Given the description of an element on the screen output the (x, y) to click on. 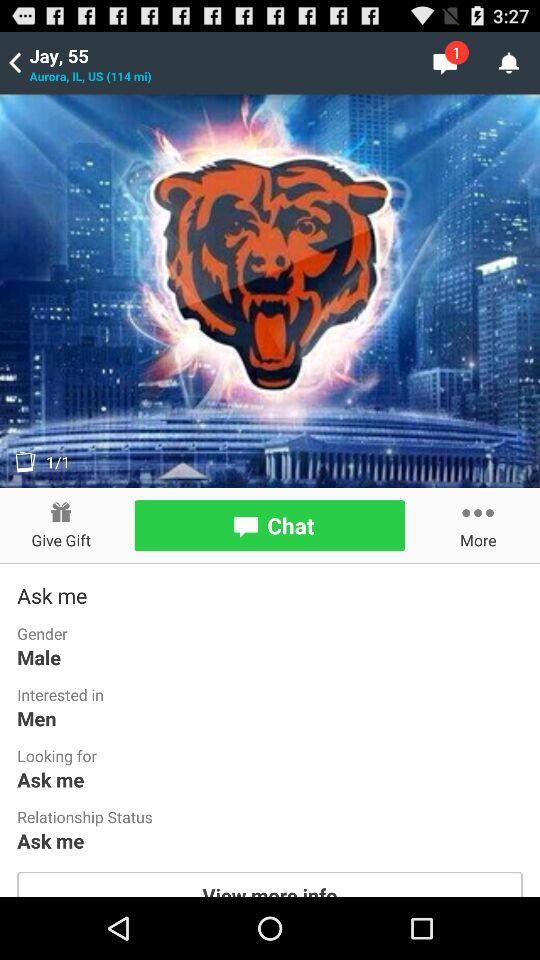
jump to view more info (269, 883)
